Given the description of an element on the screen output the (x, y) to click on. 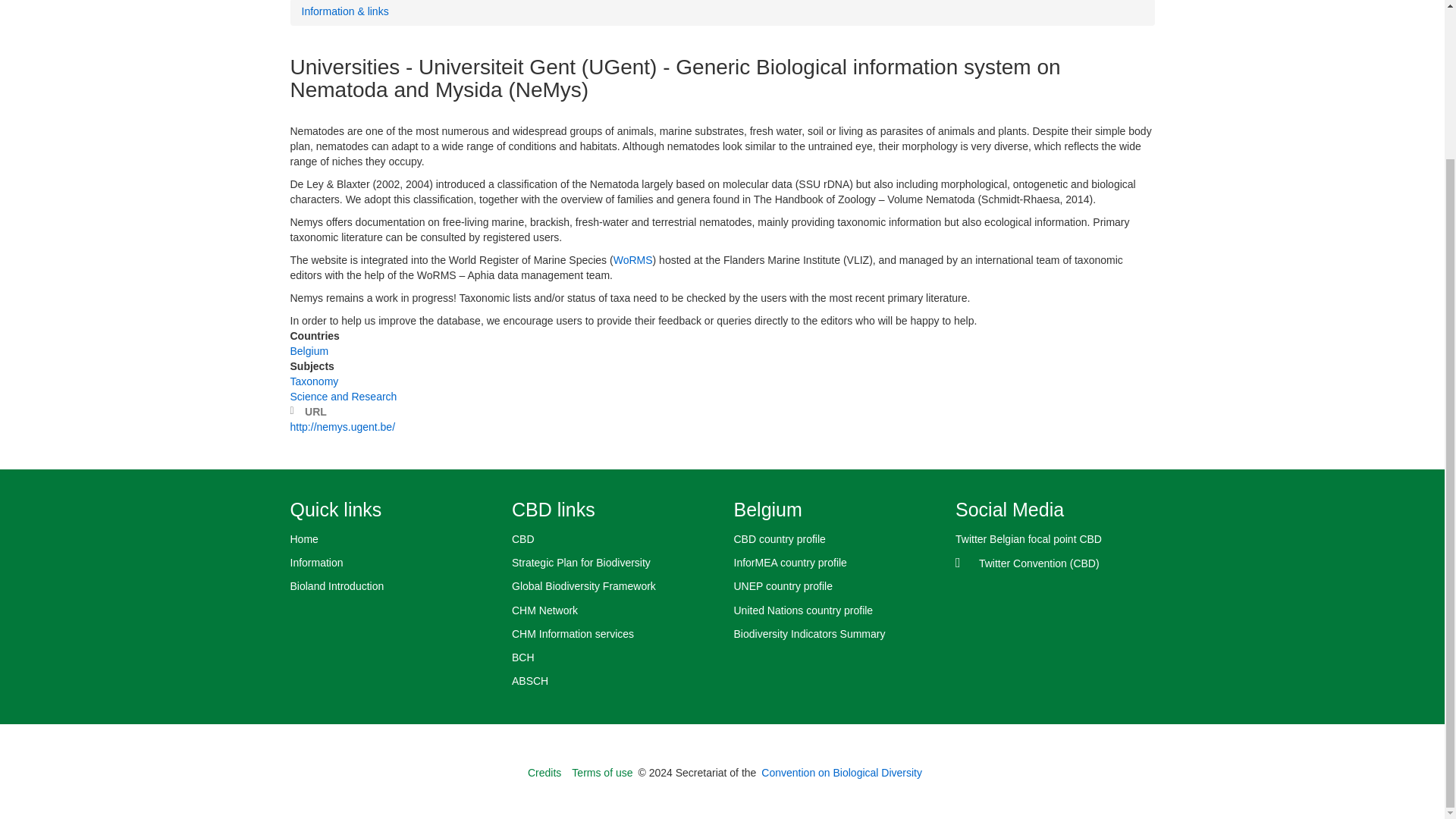
BIP Dashboard Indicator Summary for Belgium (833, 634)
